Given the description of an element on the screen output the (x, y) to click on. 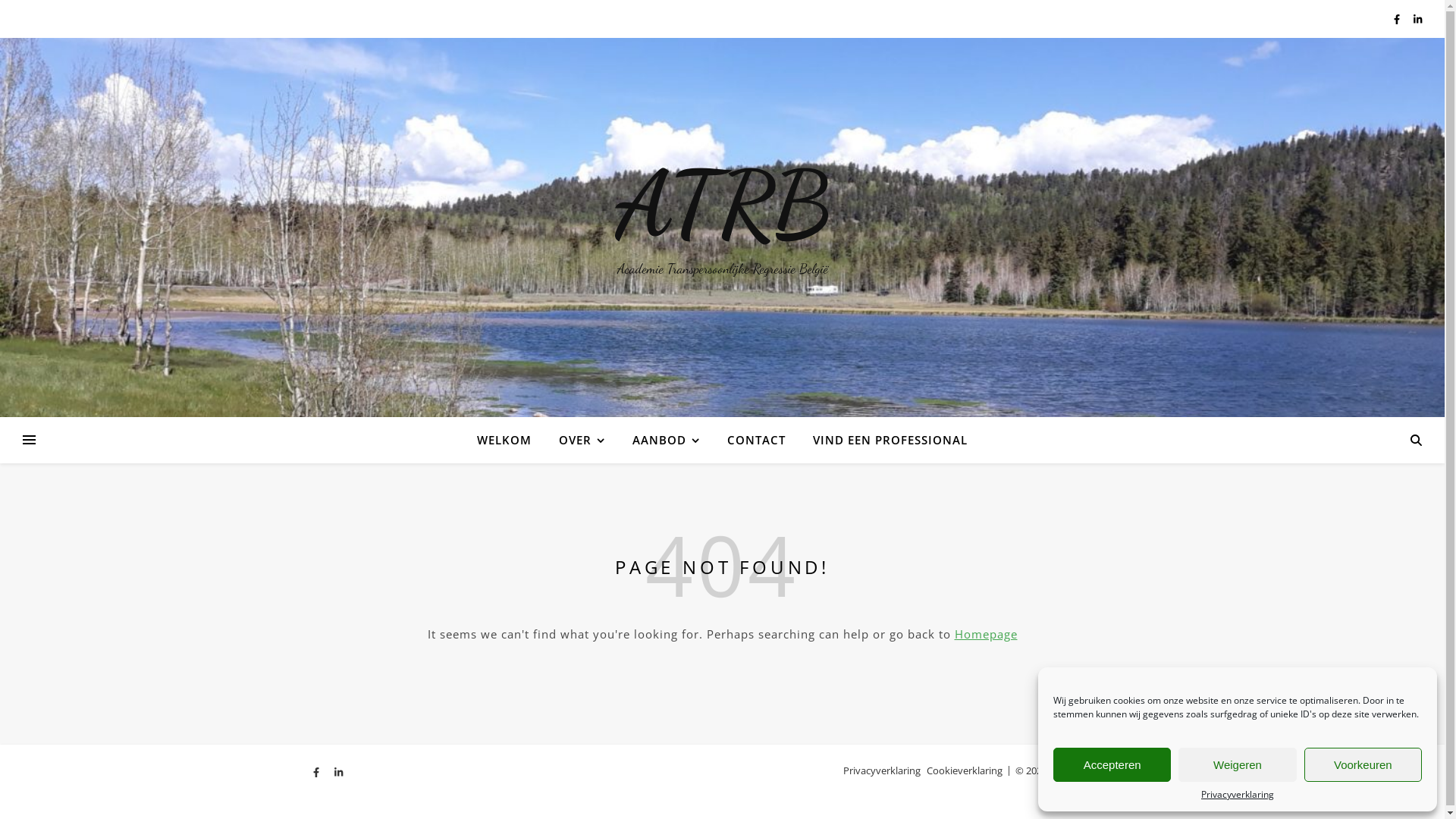
Voorkeuren Element type: text (1362, 764)
Privacyverklaring Element type: text (881, 770)
Privacyverklaring Element type: text (1237, 794)
CONTACT Element type: text (756, 439)
VIND EEN PROFESSIONAL Element type: text (883, 439)
Cookieverklaring Element type: text (964, 770)
AANBOD Element type: text (666, 440)
Accepteren Element type: text (1111, 764)
Weigeren Element type: text (1236, 764)
ATRB Element type: text (721, 204)
Homepage Element type: text (984, 633)
WELKOM Element type: text (509, 439)
Nikedi Element type: text (1116, 770)
OVER Element type: text (581, 440)
